Given the description of an element on the screen output the (x, y) to click on. 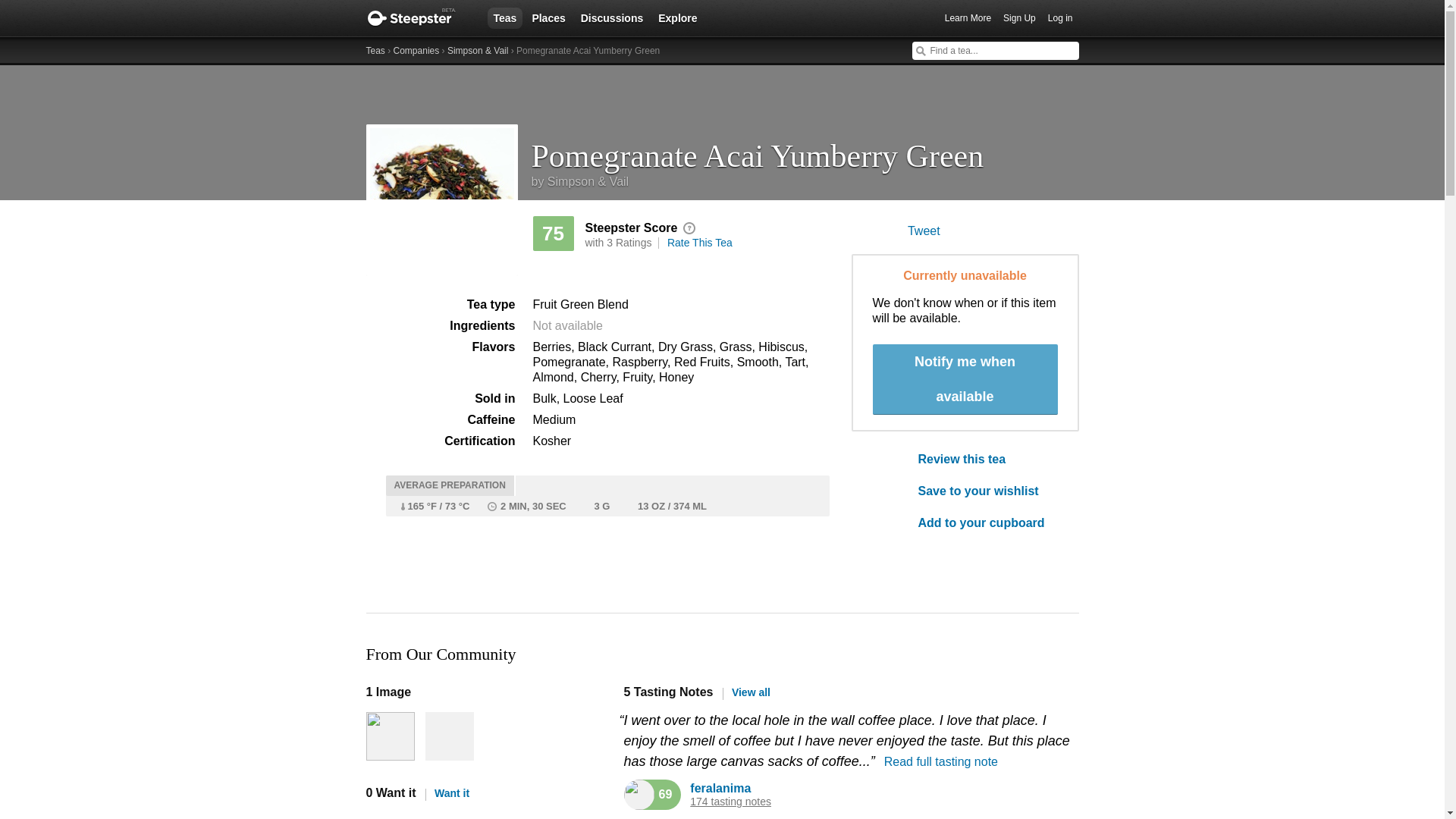
Notify me when available (964, 378)
Pomegranate Acai Yumberry Green (804, 150)
174 tasting notes (730, 801)
Learn More (968, 18)
Places (547, 17)
Fruit Green Blend (579, 304)
feralanima (720, 787)
Review this tea (986, 458)
Want it (446, 793)
Log in (1060, 18)
